Given the description of an element on the screen output the (x, y) to click on. 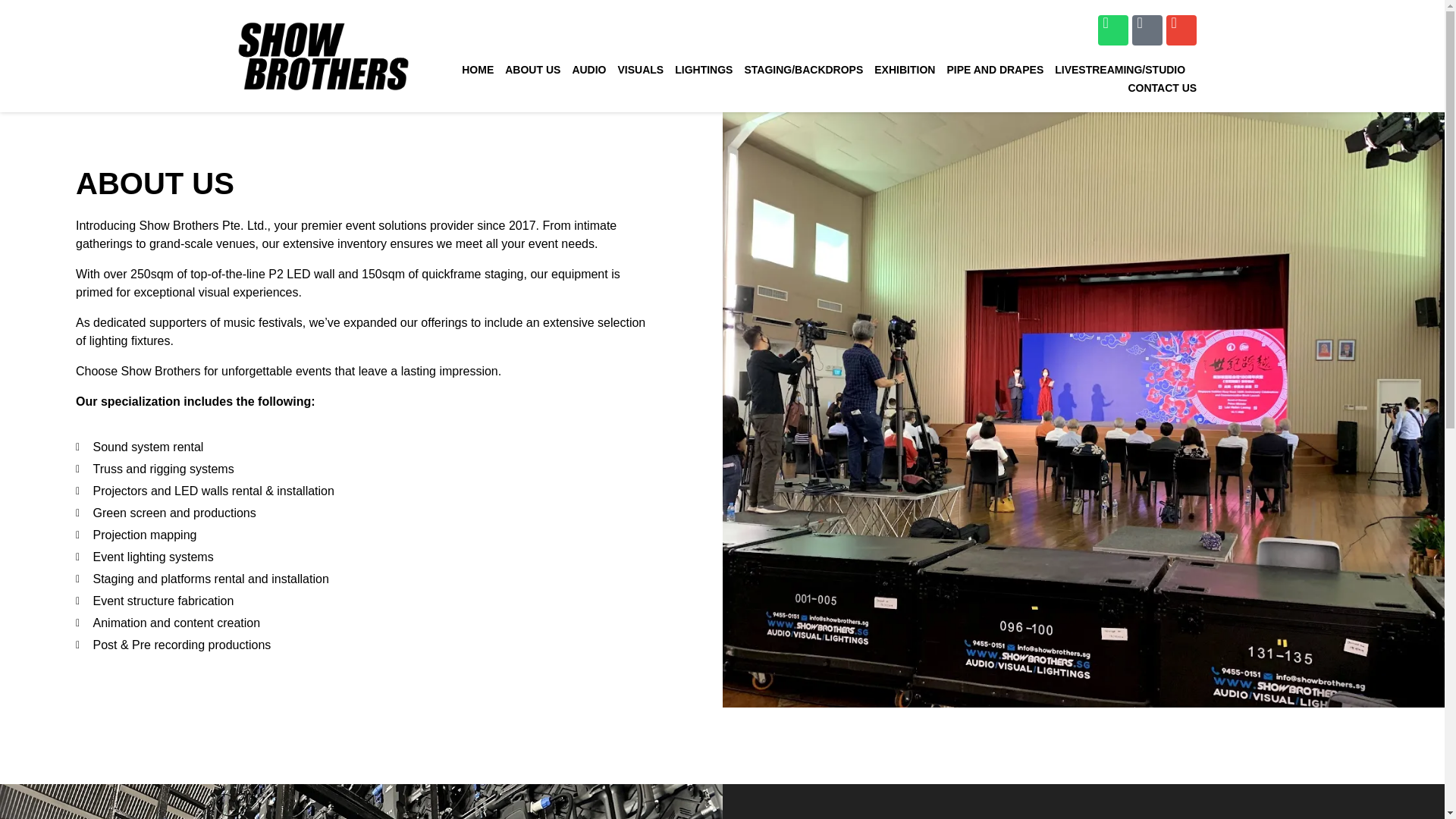
LIGHTINGS (703, 69)
ABOUT US (532, 69)
HOME (477, 69)
CONTACT US (1161, 87)
VISUALS (640, 69)
AUDIO (588, 69)
PIPE AND DRAPES (994, 69)
EXHIBITION (904, 69)
